Given the description of an element on the screen output the (x, y) to click on. 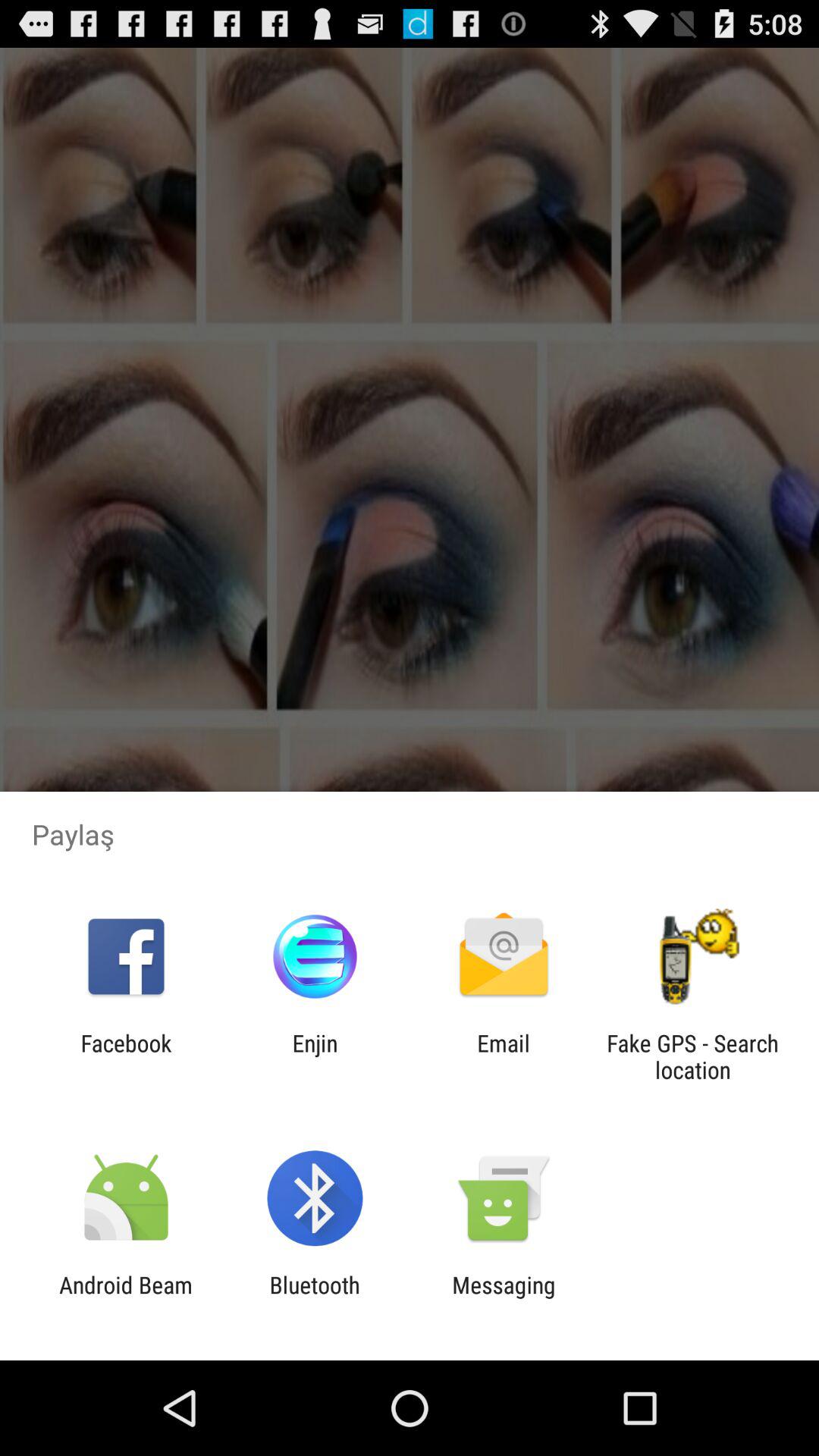
open facebook icon (125, 1056)
